Given the description of an element on the screen output the (x, y) to click on. 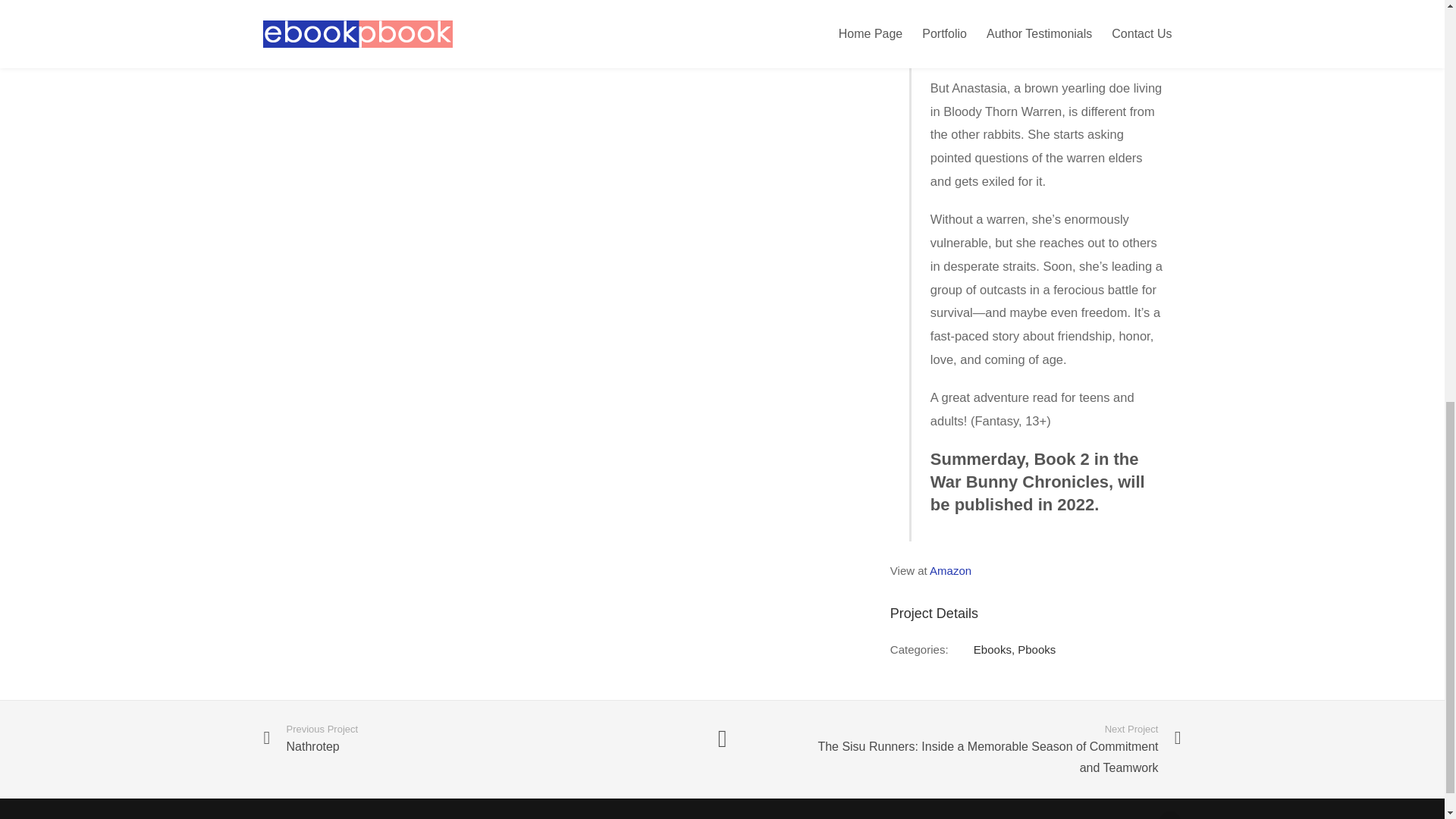
Amazon (950, 570)
